Given the description of an element on the screen output the (x, y) to click on. 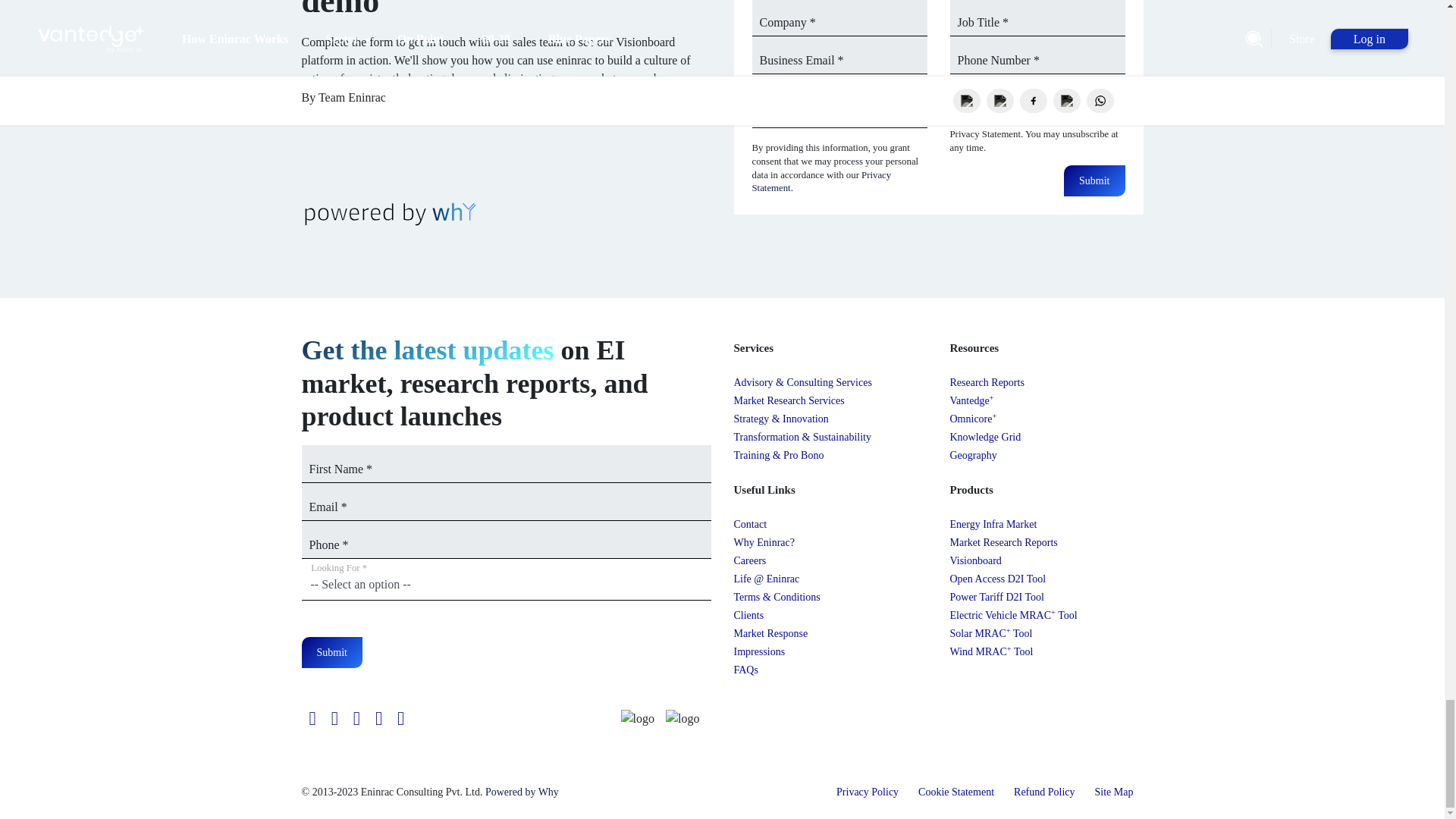
Submit (1094, 180)
Submit (331, 652)
